Given the description of an element on the screen output the (x, y) to click on. 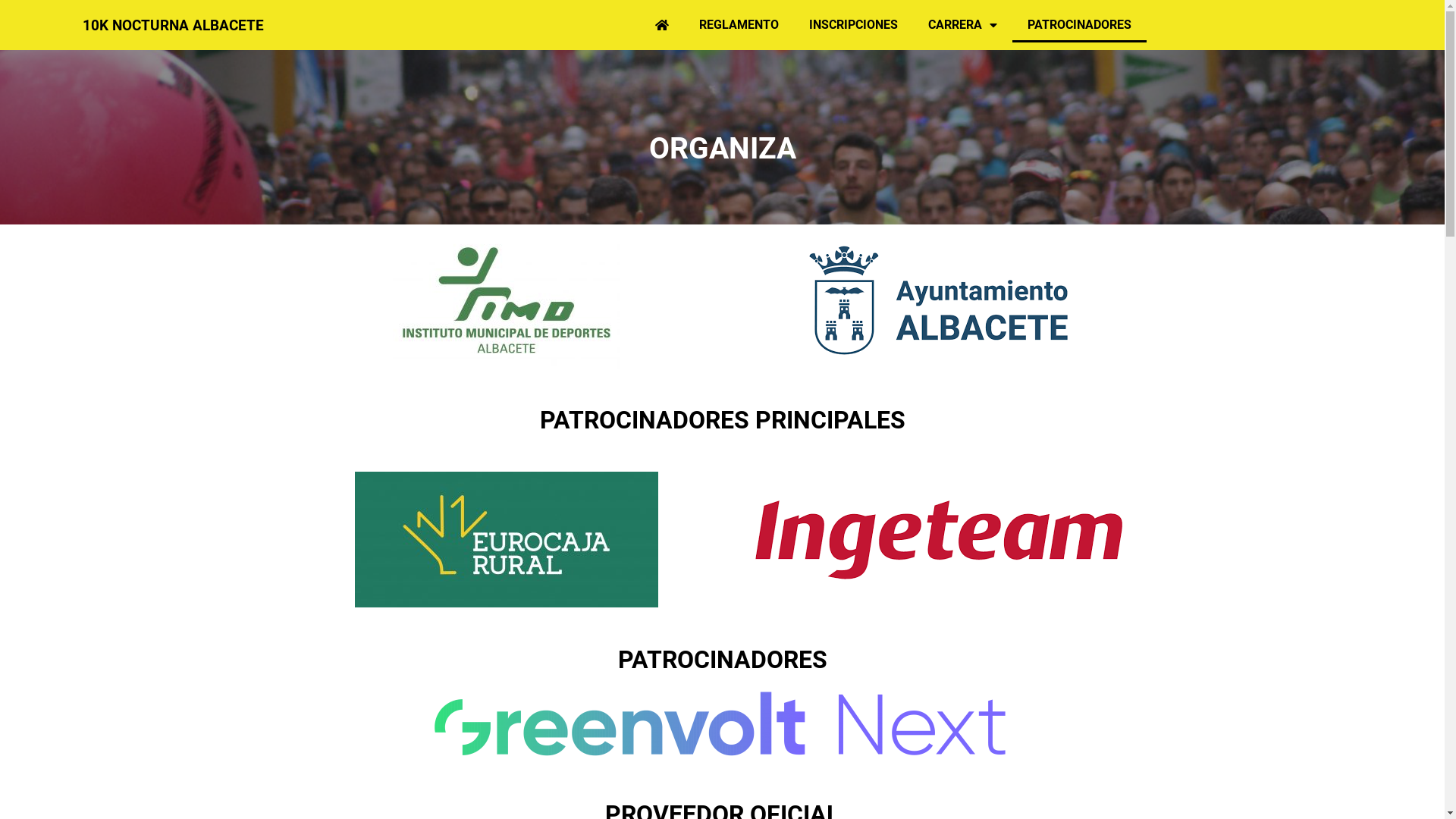
INSCRIPCIONES Element type: text (853, 24)
10K NOCTURNA ALBACETE Element type: text (172, 25)
REGLAMENTO Element type: text (738, 24)
PATROCINADORES Element type: text (1079, 24)
imagotipo EUROCAJA RURAL cuadrado 335c Element type: hover (506, 539)
CARRERA Element type: text (962, 24)
